Given the description of an element on the screen output the (x, y) to click on. 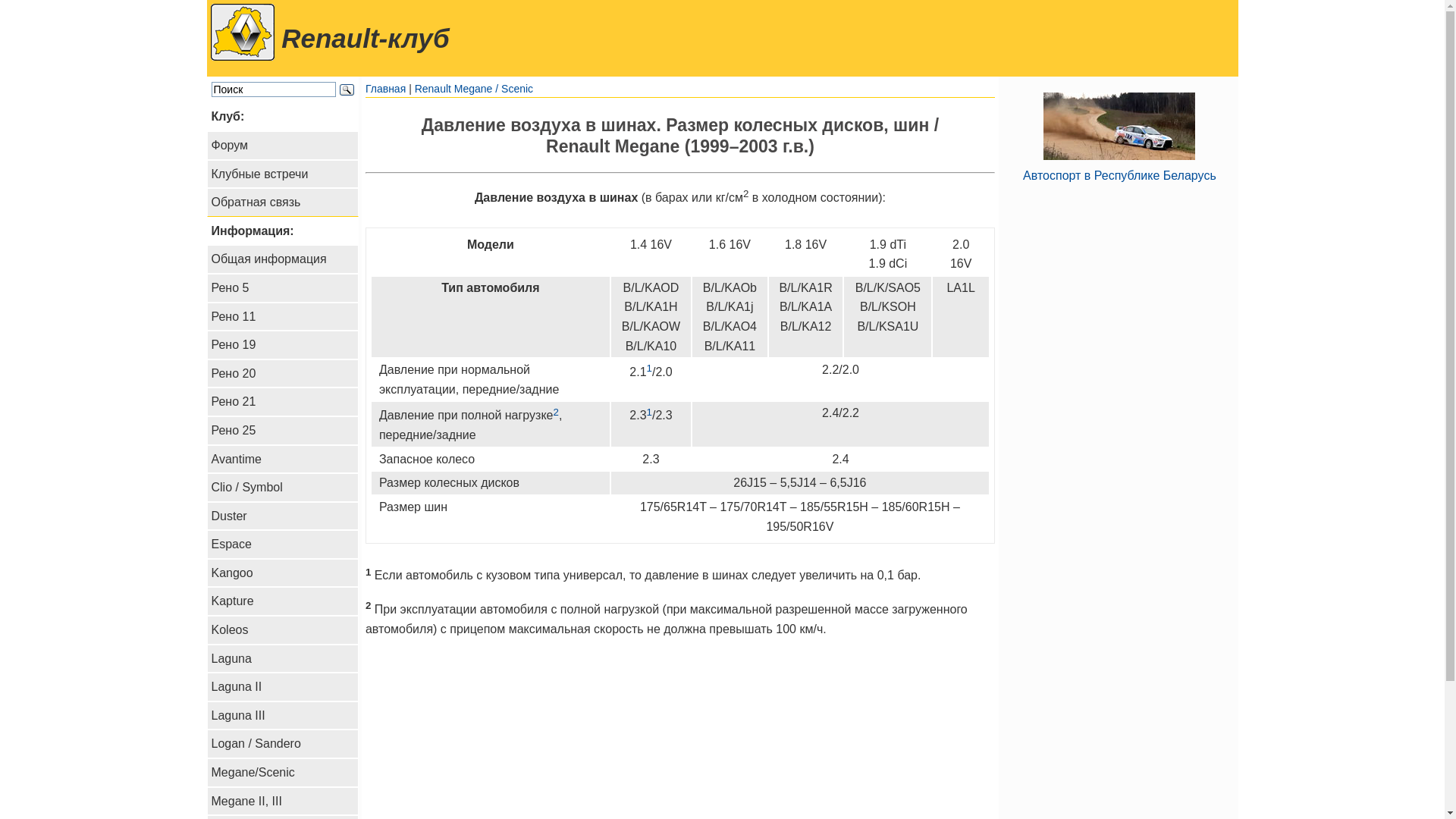
1 Element type: text (649, 371)
Megane/Scenic Element type: text (281, 772)
Laguna III Element type: text (281, 715)
Avantime Element type: text (281, 459)
Laguna Element type: text (281, 658)
Clio / Symbol Element type: text (281, 487)
Espace Element type: text (281, 544)
Laguna II Element type: text (281, 686)
Koleos Element type: text (281, 630)
Logan / Sandero Element type: text (281, 743)
Kapture Element type: text (281, 601)
Megane II, III Element type: text (281, 801)
Kangoo Element type: text (281, 573)
1 Element type: text (649, 415)
2 Element type: text (555, 415)
Renault Megane / Scenic Element type: text (473, 88)
Duster Element type: text (281, 516)
